Given the description of an element on the screen output the (x, y) to click on. 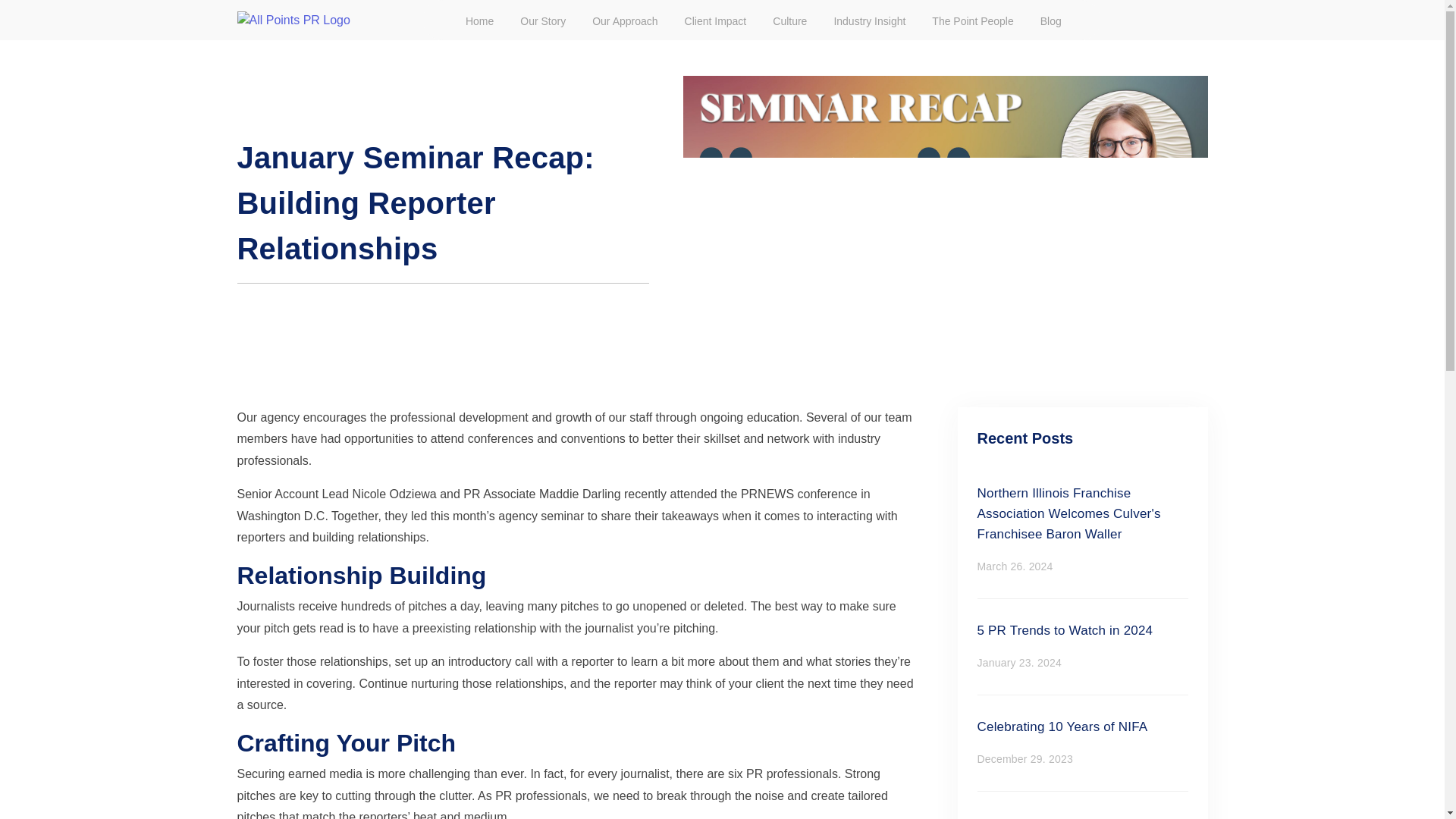
The Point People (972, 21)
Culture (789, 21)
Our Approach (625, 21)
Blog (1051, 21)
Our Story (1082, 646)
Home (542, 21)
Client Impact (1082, 743)
